Given the description of an element on the screen output the (x, y) to click on. 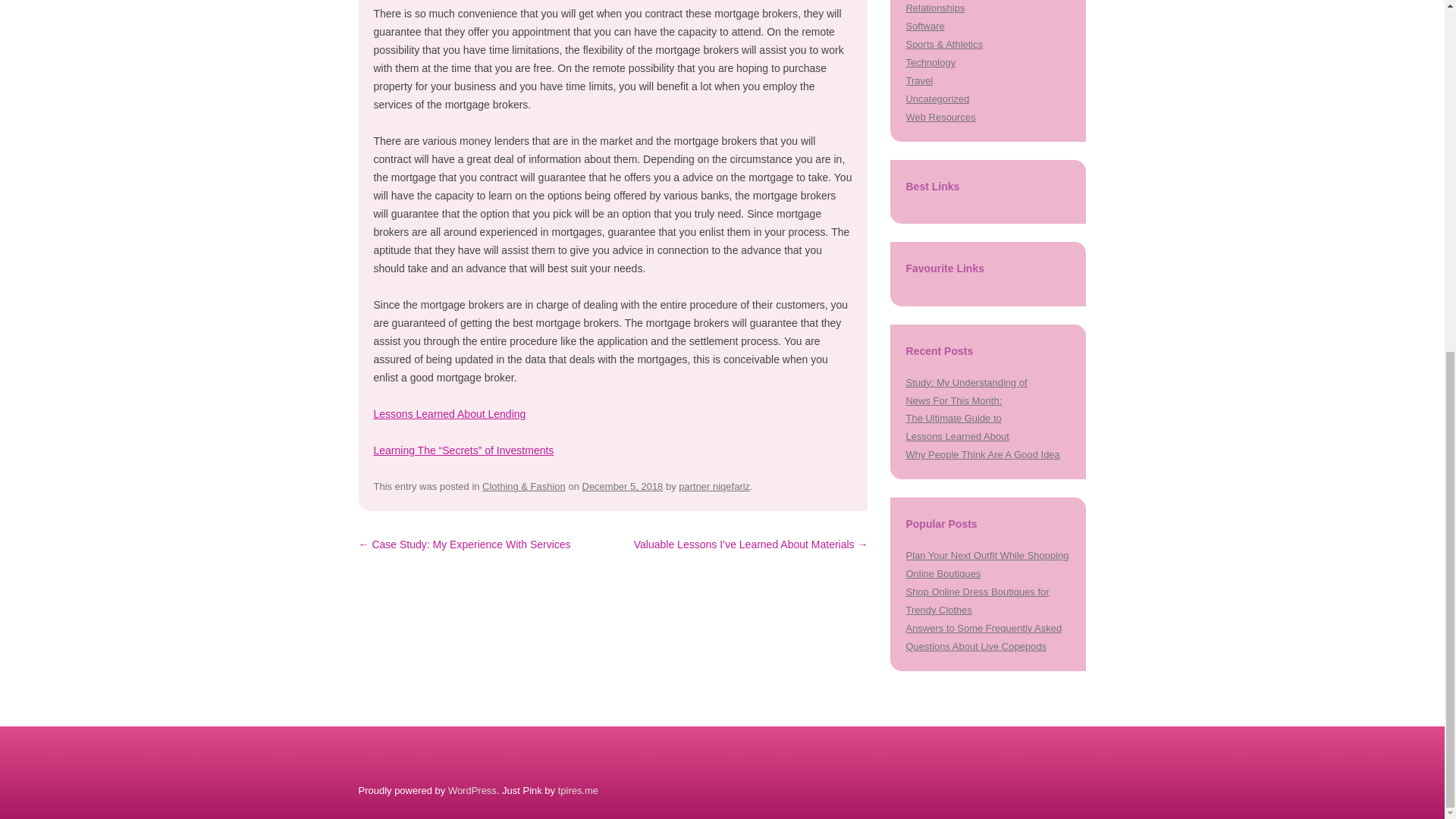
Plan Your Next Outfit While Shopping Online Boutiques (986, 564)
Technology (930, 61)
December 5, 2018 (622, 486)
View all posts by partner niqefariz (713, 486)
Semantic Personal Publishing Platform (472, 790)
Web Resources (940, 116)
Shop Online Dress Boutiques for Trendy Clothes (976, 600)
Study: My Understanding of (965, 382)
News For This Month: (953, 400)
Relationships (934, 7)
9:14 am (622, 486)
Travel (919, 80)
partner niqefariz (713, 486)
The Ultimate Guide to (953, 418)
